Given the description of an element on the screen output the (x, y) to click on. 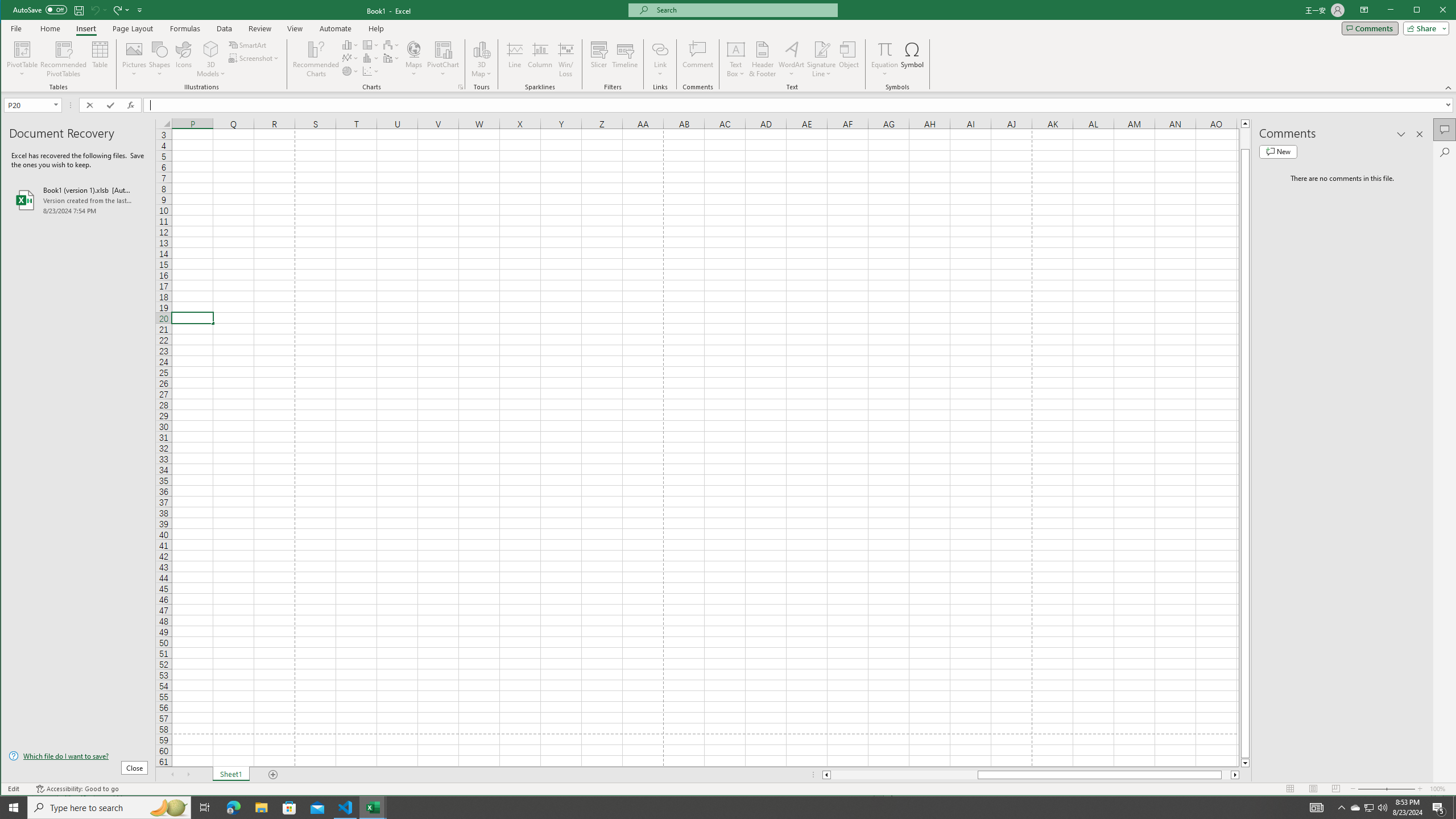
Column left (826, 774)
Page right (1225, 774)
PivotTable (22, 48)
Microsoft Store (289, 807)
Icons (183, 59)
Recommended PivotTables (63, 59)
Link (659, 59)
Table (100, 59)
Comment (697, 59)
3D Map (481, 48)
Page left (903, 774)
Type here to search (108, 807)
Equation (884, 48)
Review (259, 28)
